Given the description of an element on the screen output the (x, y) to click on. 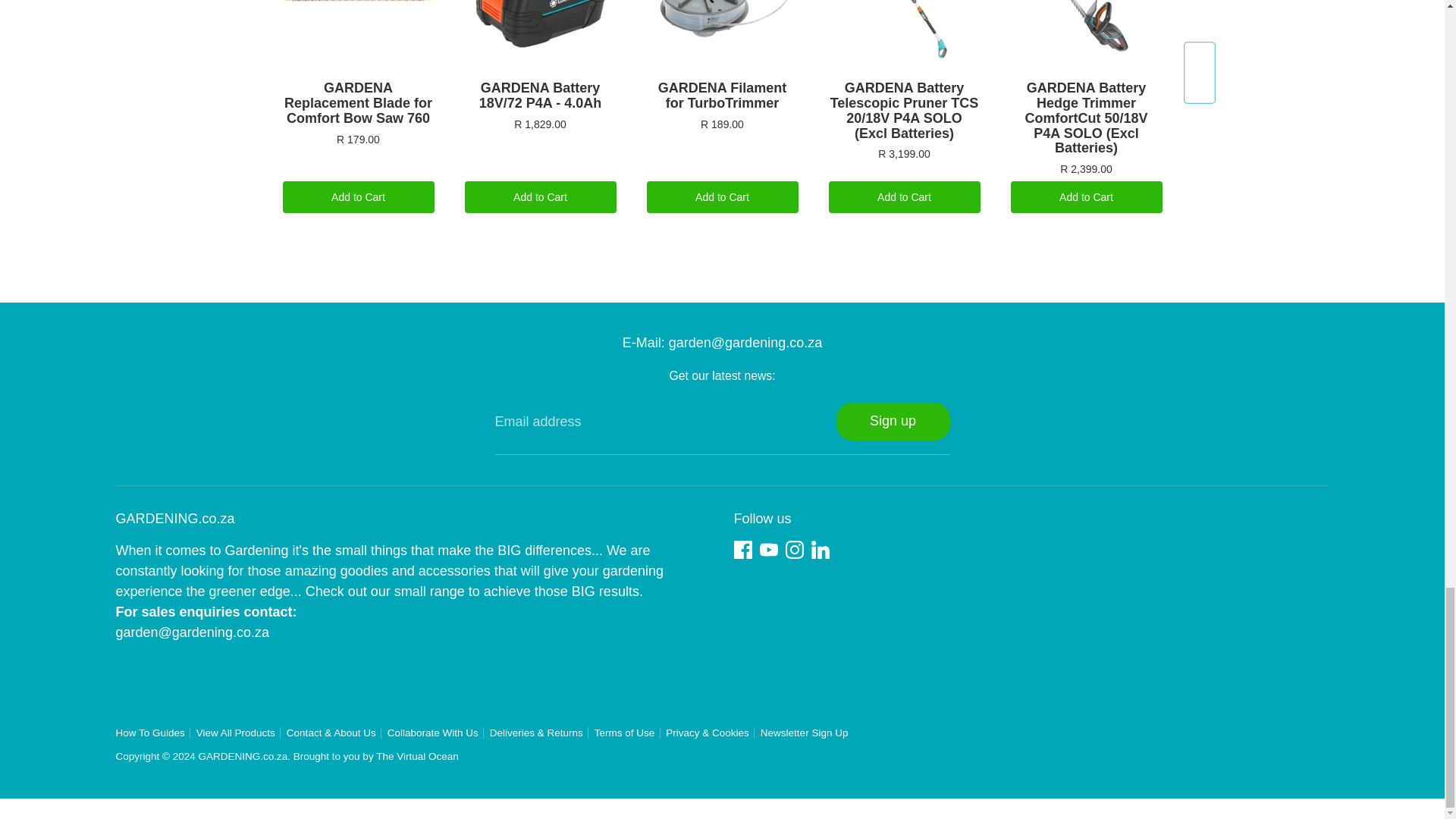
GARDENA Filament for TurboTrimmer (722, 37)
GARDENA Replacement Blade for Comfort Bow Saw 760 (358, 37)
